Given the description of an element on the screen output the (x, y) to click on. 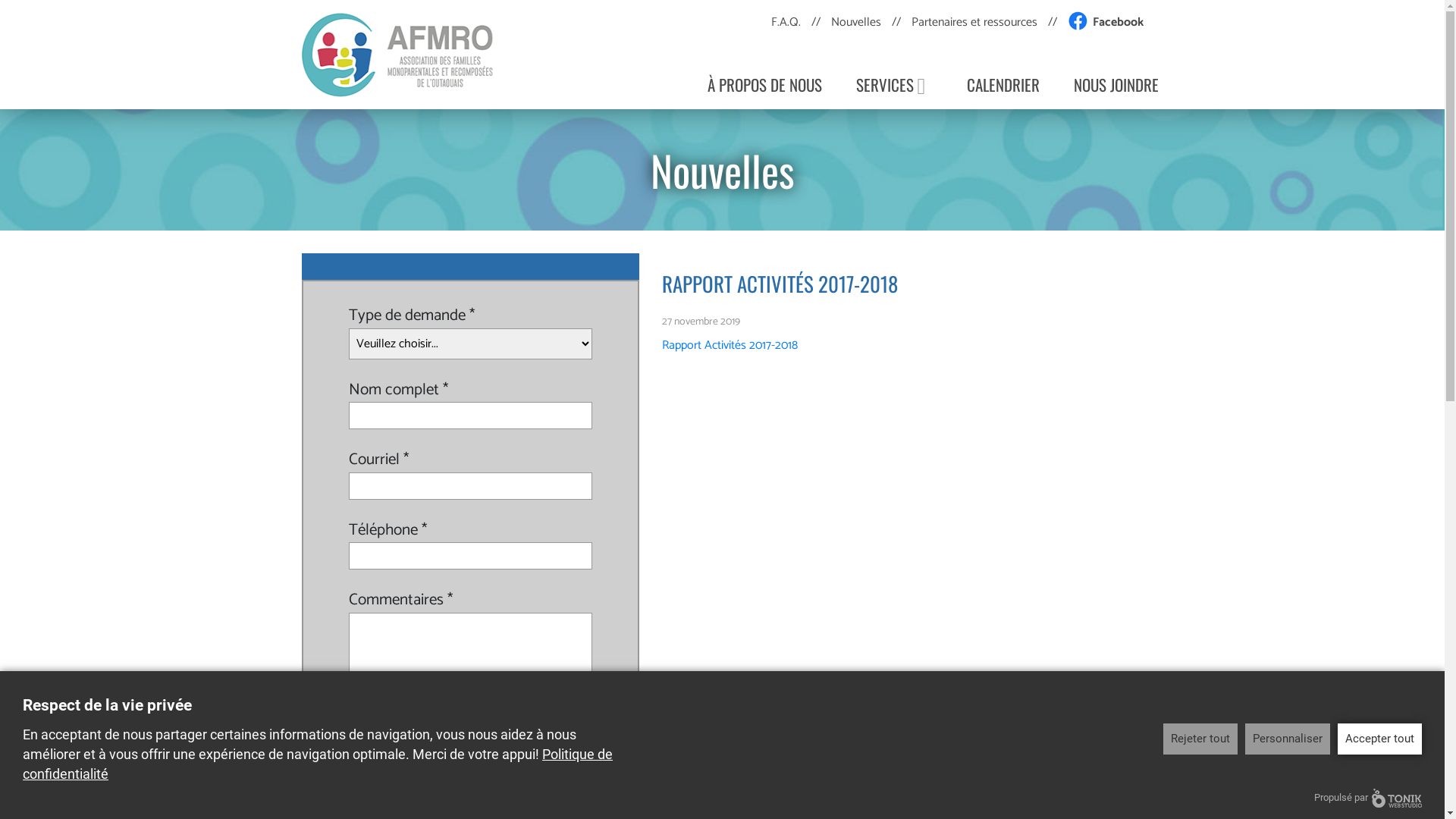
F.A.Q. Element type: text (785, 22)
Nouvelles Element type: text (855, 22)
Personnaliser Element type: text (1287, 739)
Facebook Element type: text (1097, 22)
SERVICES Element type: text (893, 84)
NOUS JOINDRE Element type: text (1115, 84)
Accepter tout Element type: text (1379, 739)
Partenaires et ressources Element type: text (974, 22)
Rejeter tout Element type: text (1200, 739)
CALENDRIER Element type: text (1002, 84)
